Given the description of an element on the screen output the (x, y) to click on. 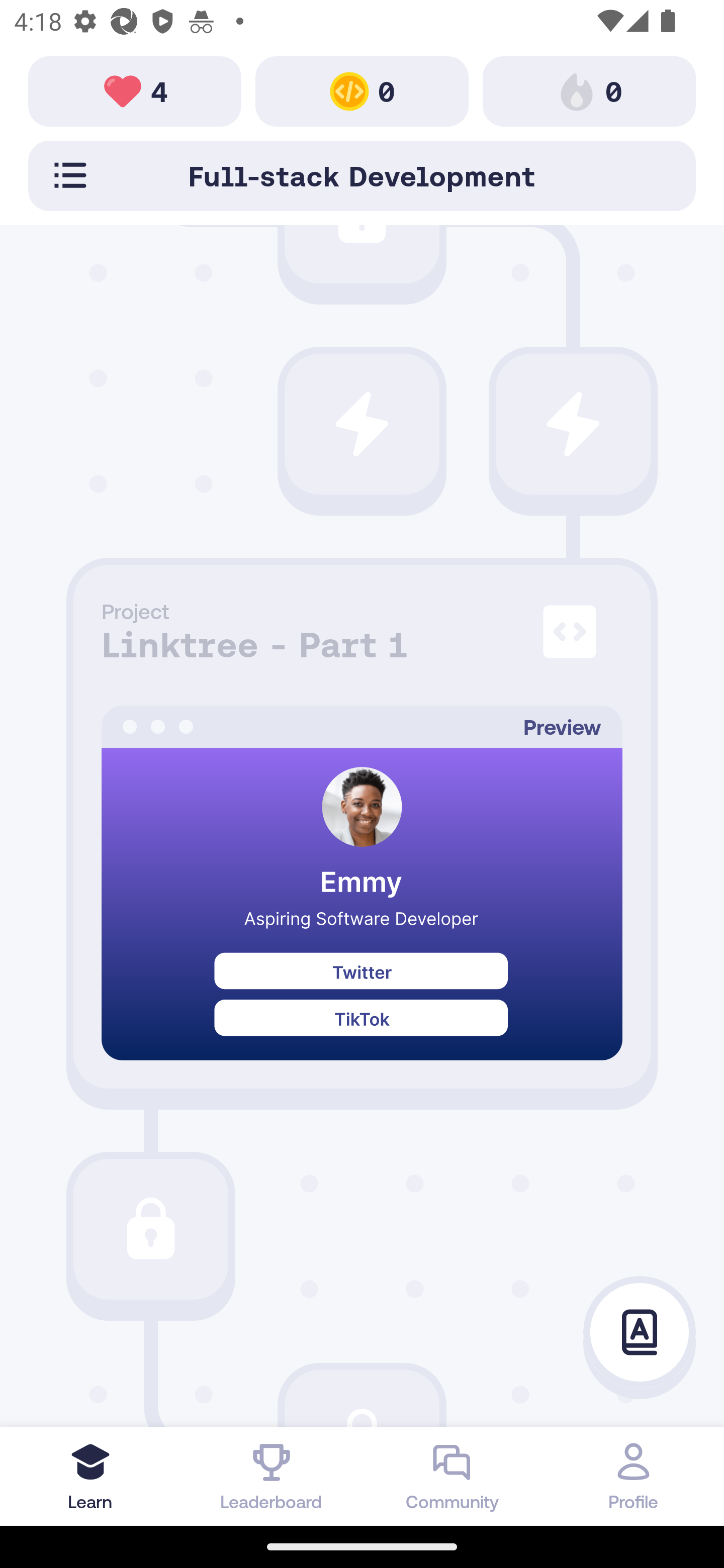
Path Toolbar Image 4 (134, 90)
Path Toolbar Image 0 (361, 90)
Path Toolbar Image 0 (588, 90)
Path Toolbar Selector Full-stack Development (361, 175)
Path Icon (361, 423)
Path Icon (572, 423)
Path Icon (150, 1228)
Glossary Icon (639, 1332)
Leaderboard (271, 1475)
Community (452, 1475)
Profile (633, 1475)
